Given the description of an element on the screen output the (x, y) to click on. 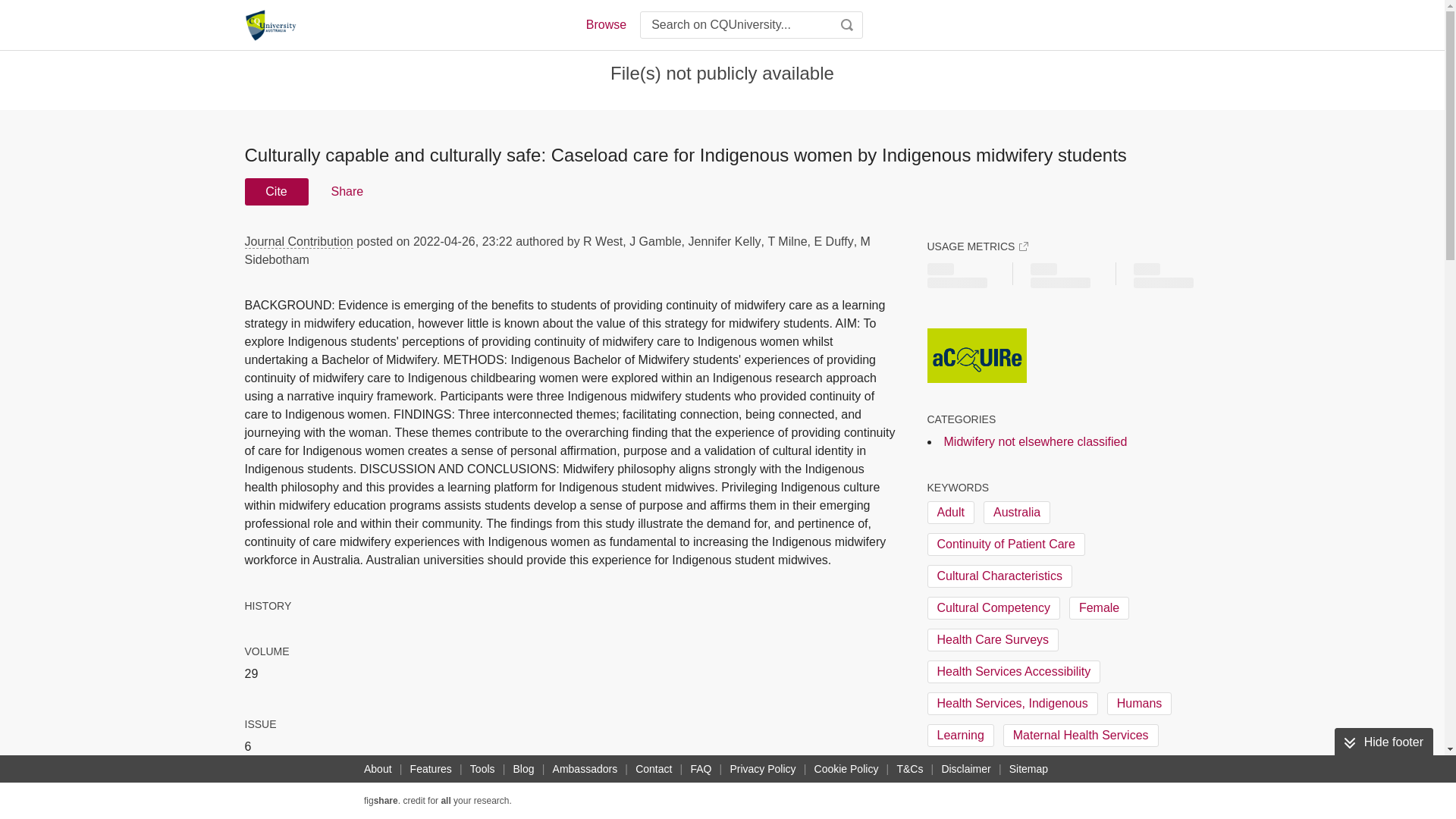
USAGE METRICS (976, 246)
Learning (959, 734)
Adult (950, 512)
Female (1098, 608)
Humans (1139, 703)
Maternal Health Services (1080, 734)
Pregnancy (965, 798)
Cultural Competency (992, 608)
Continuity of Patient Care (1005, 544)
Browse (605, 24)
Health Services Accessibility (1013, 671)
Midwifery not elsewhere classified (1034, 440)
Midwifery (961, 766)
Cultural Characteristics (998, 576)
Share (346, 191)
